Given the description of an element on the screen output the (x, y) to click on. 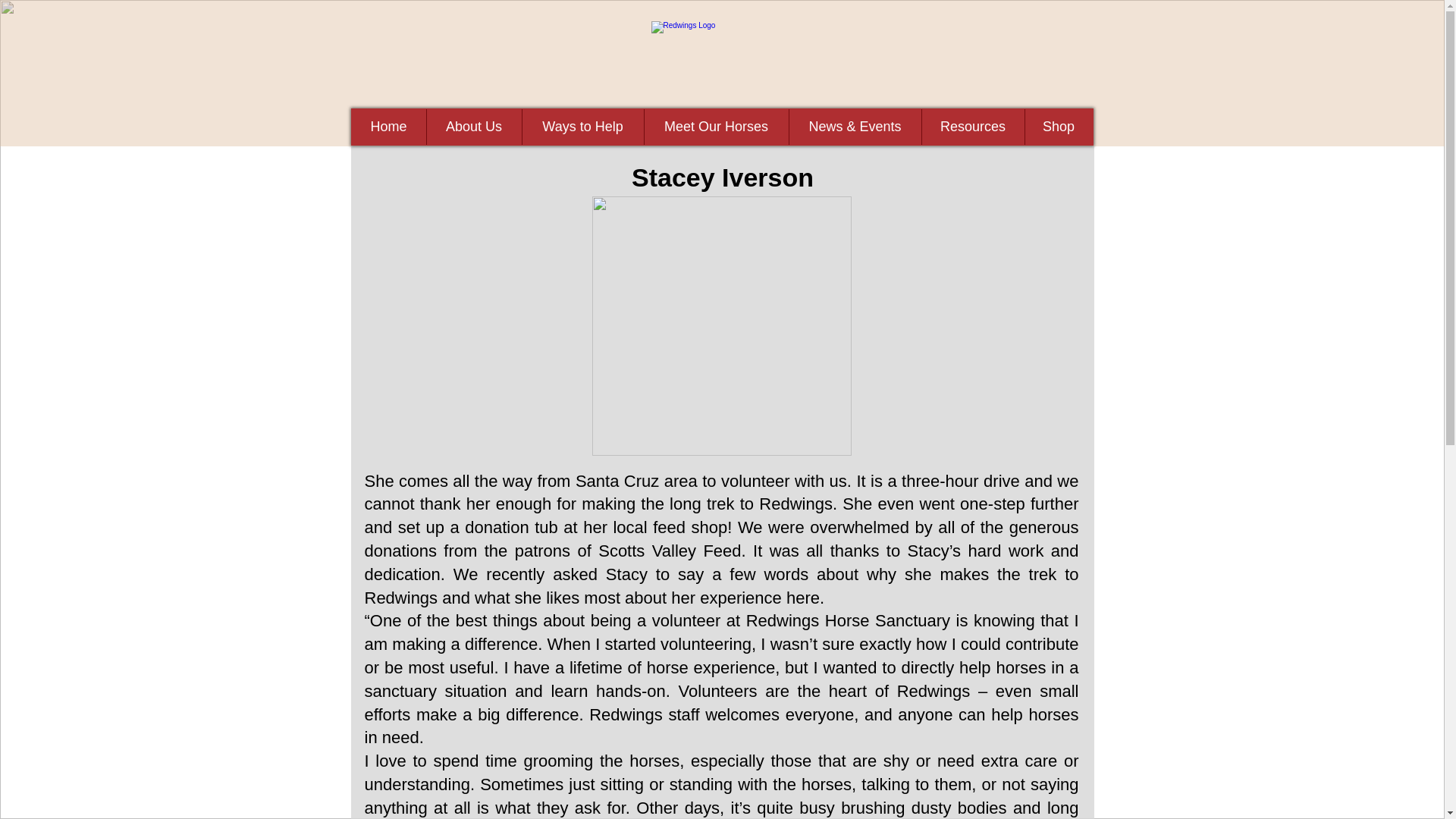
Redwingsnewlogo (721, 59)
STACY.png (720, 325)
Home (389, 126)
